Given the description of an element on the screen output the (x, y) to click on. 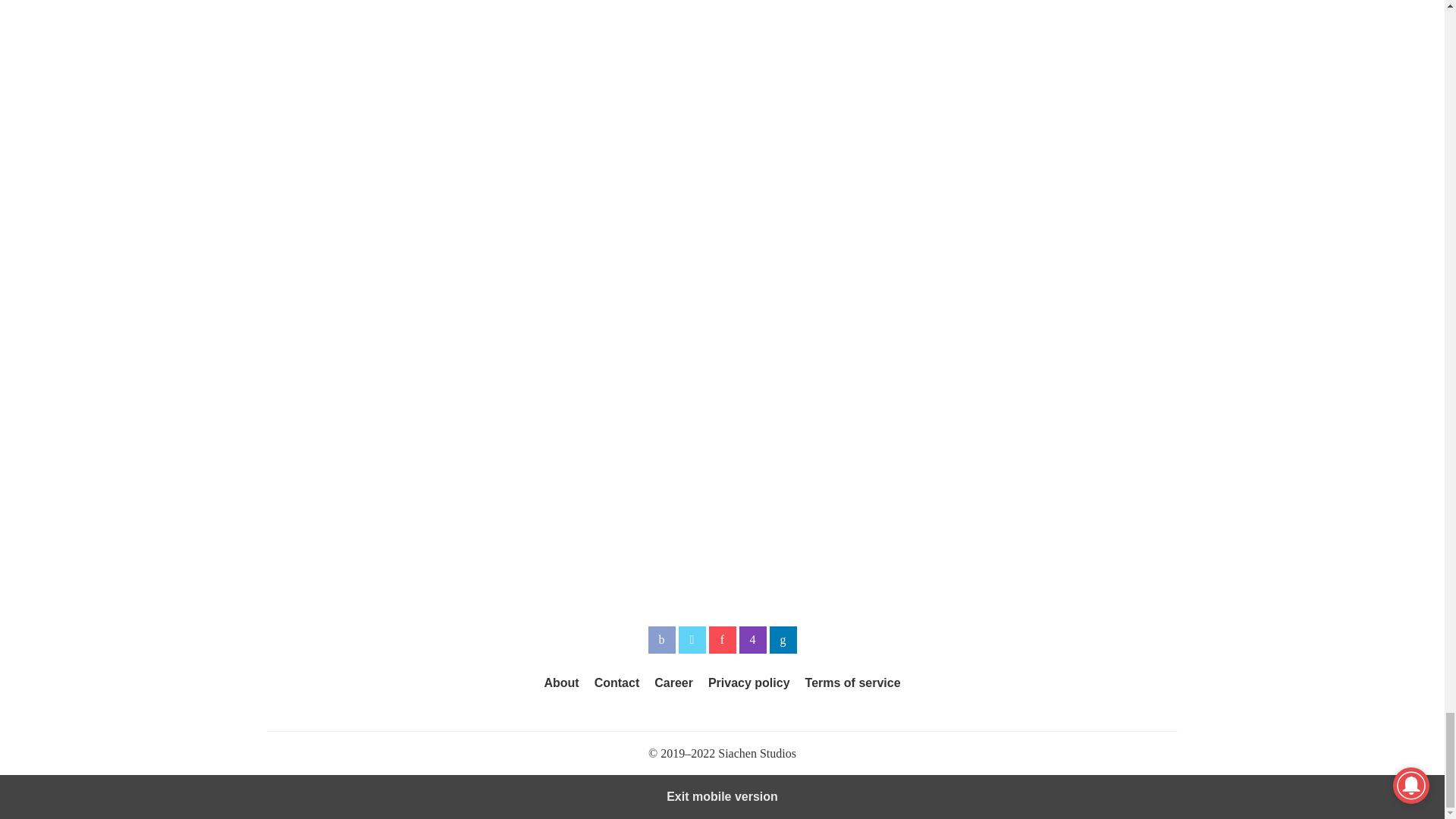
Twitter (691, 639)
Contact (617, 682)
Pinterest (721, 639)
Facebook (661, 639)
Instagram (751, 639)
About (560, 682)
